Given the description of an element on the screen output the (x, y) to click on. 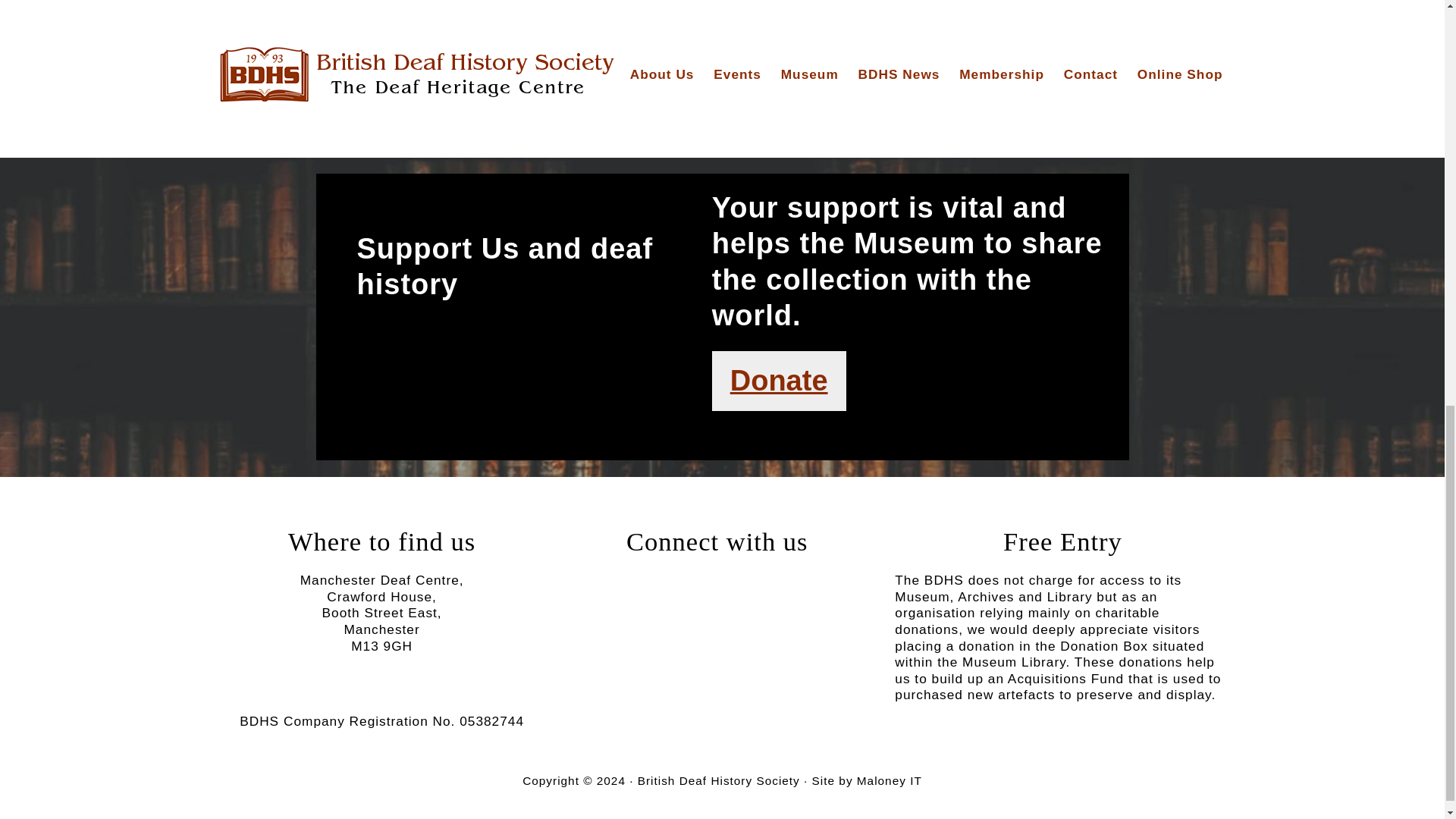
Donate (778, 381)
Donate (779, 380)
